Given the description of an element on the screen output the (x, y) to click on. 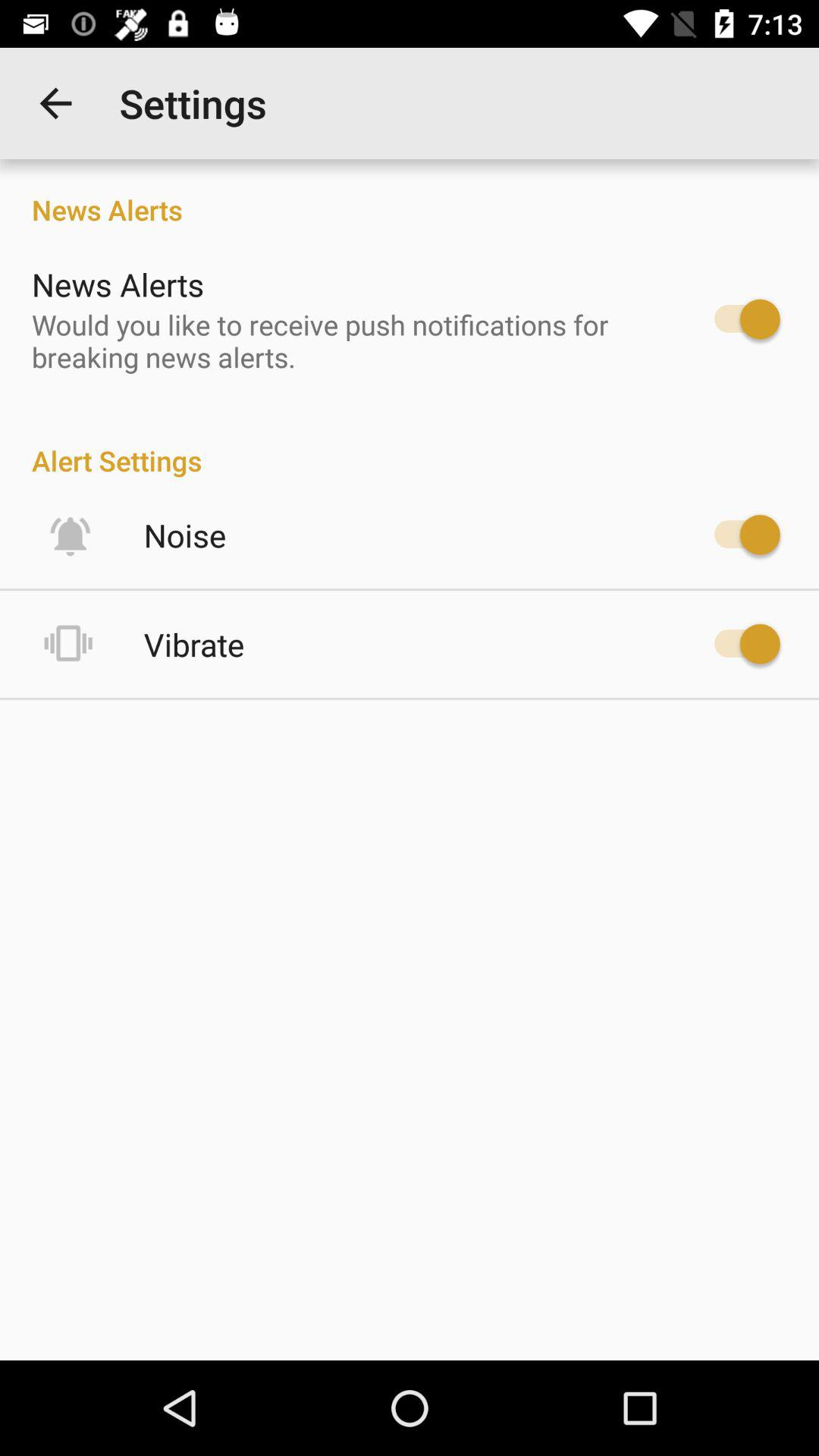
press icon below the noise icon (193, 644)
